Given the description of an element on the screen output the (x, y) to click on. 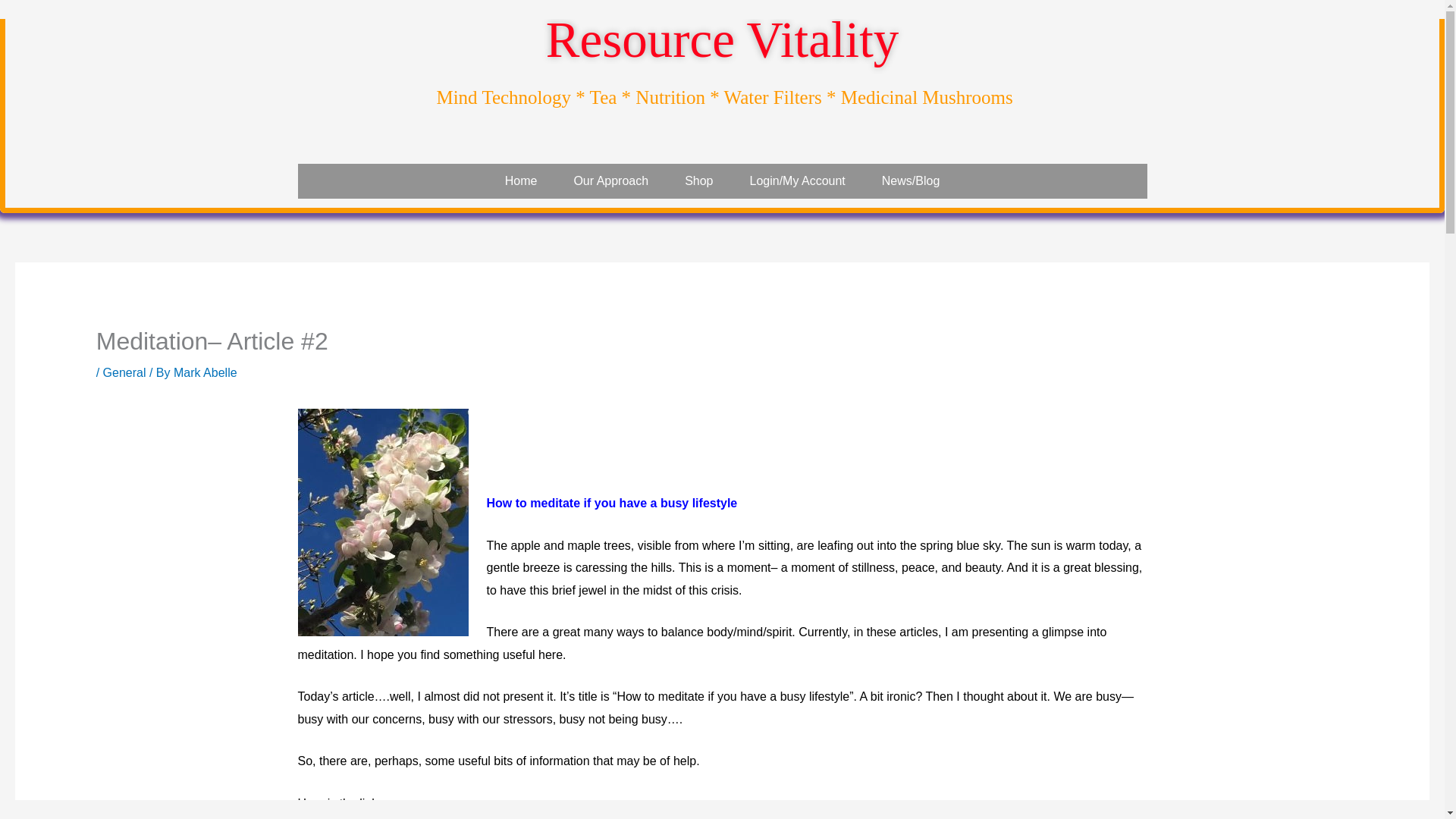
Home (521, 181)
Our Approach (610, 181)
Shop (698, 181)
View all posts by Mark Abelle (205, 372)
